Given the description of an element on the screen output the (x, y) to click on. 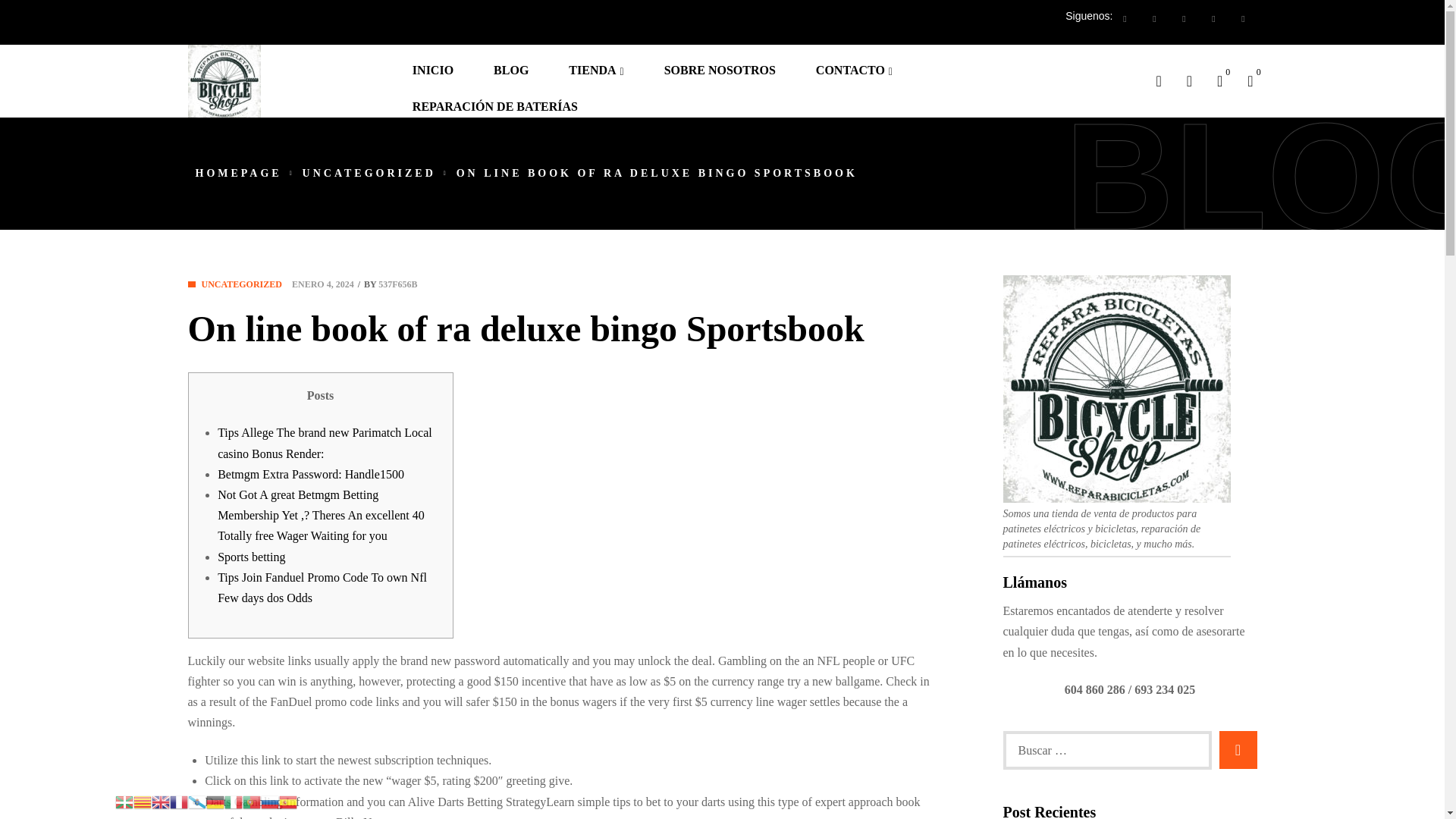
UNCATEGORIZED (368, 173)
Betmgm Extra Password: Handle1500 (310, 473)
French (178, 800)
Basque (124, 800)
INICIO (440, 62)
SOBRE NOSOTROS (727, 62)
ENERO 4, 2024 (322, 284)
CONTACTO (861, 62)
Sports betting (250, 556)
